Given the description of an element on the screen output the (x, y) to click on. 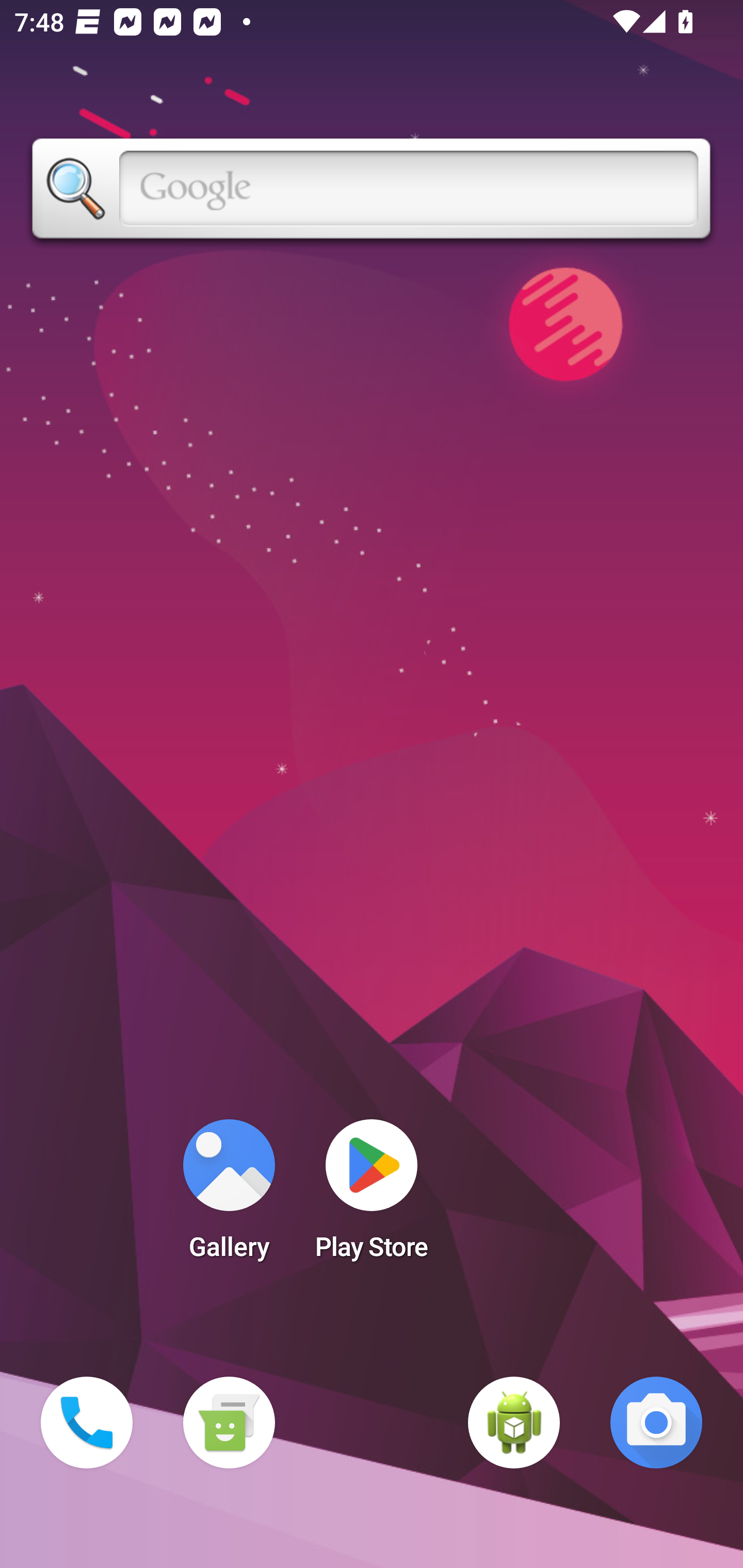
Gallery (228, 1195)
Play Store (371, 1195)
Phone (86, 1422)
Messaging (228, 1422)
WebView Browser Tester (513, 1422)
Camera (656, 1422)
